Given the description of an element on the screen output the (x, y) to click on. 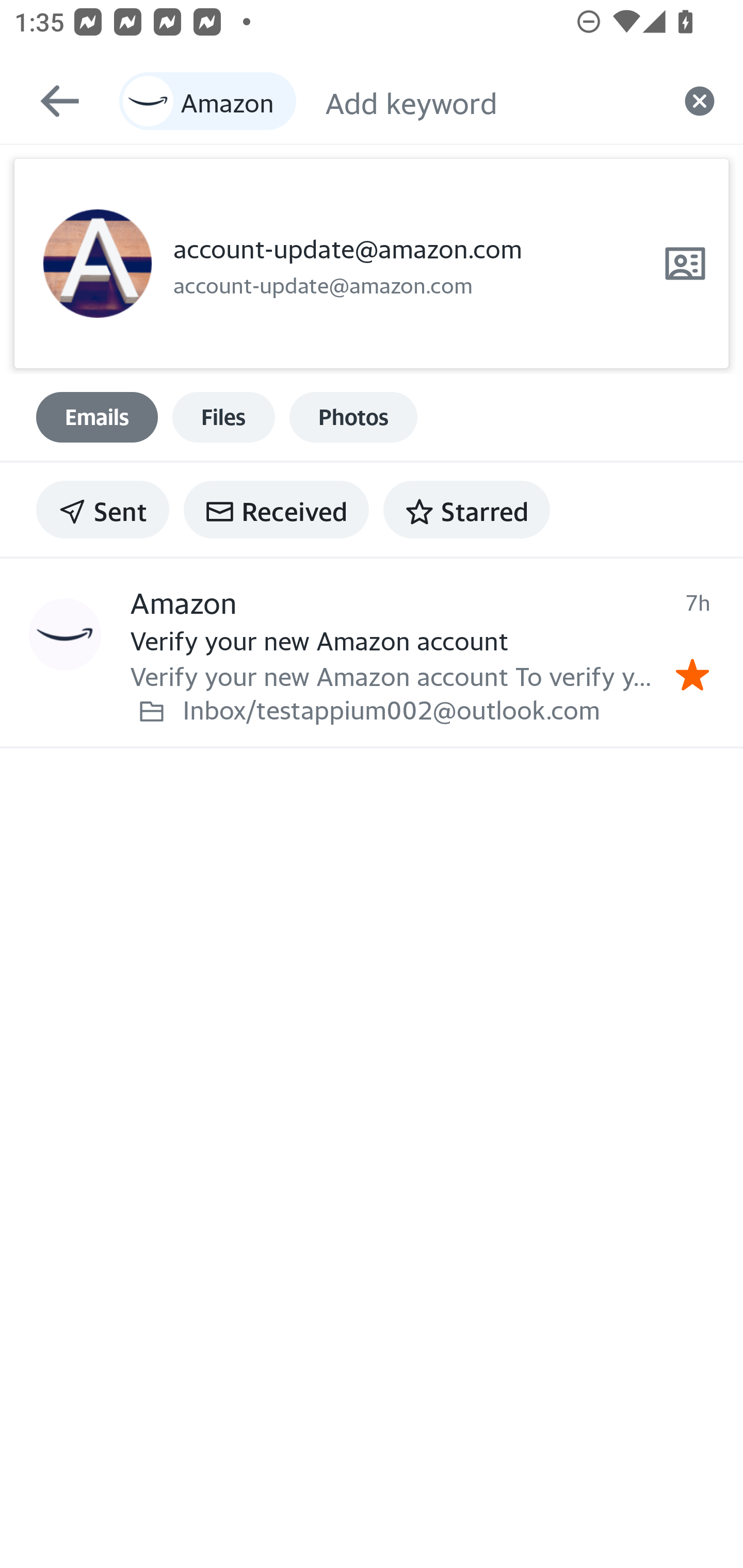
Back (50, 101)
Add keyword (490, 101)
Clear (699, 101)
Profile (97, 264)
Emails (96, 417)
Files (223, 417)
Photos (353, 417)
Sent (102, 509)
Received (276, 509)
Starred (466, 509)
Profile
Amazon (64, 634)
Remove star. (692, 674)
